Given the description of an element on the screen output the (x, y) to click on. 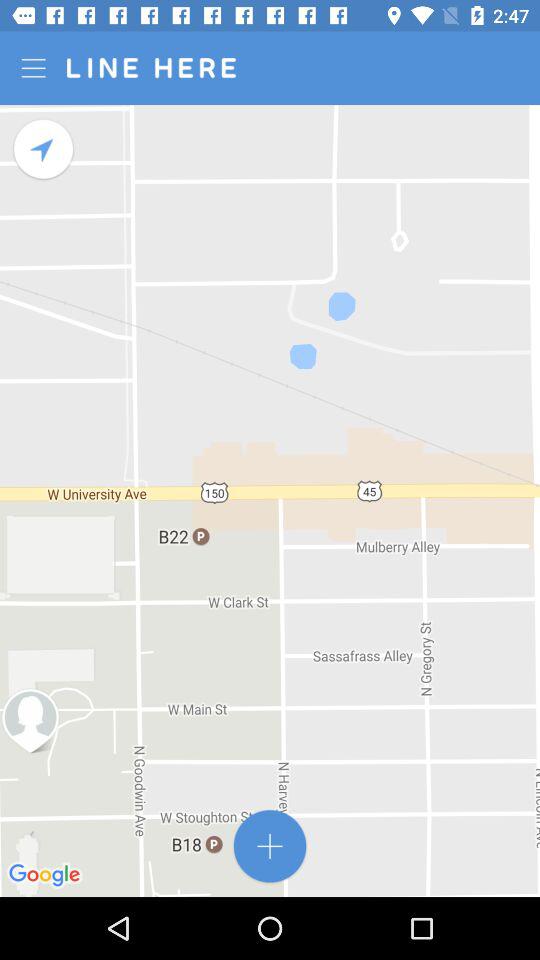
enter destination address (269, 846)
